Given the description of an element on the screen output the (x, y) to click on. 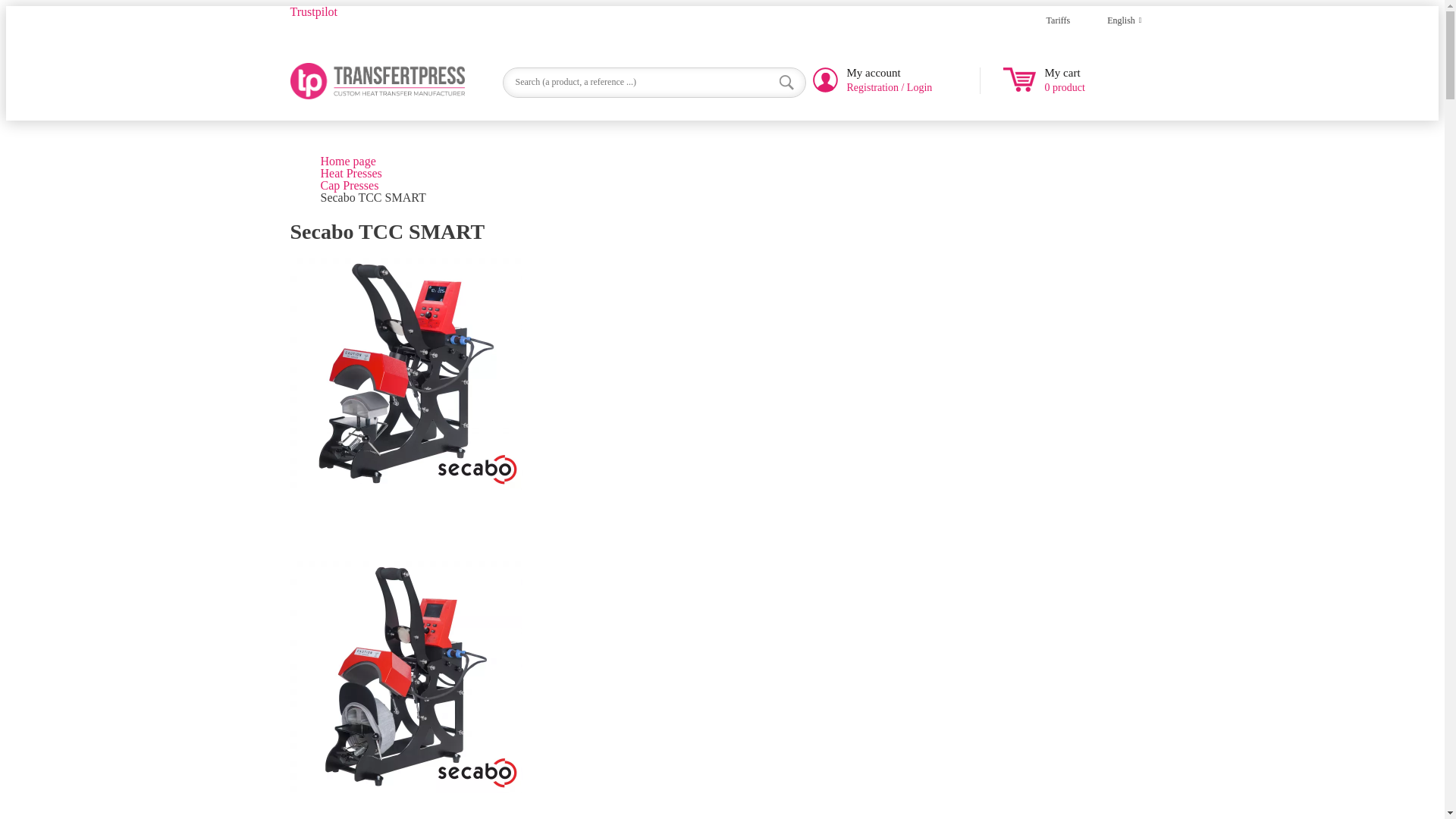
English (1110, 20)
Tariffs (1058, 20)
Trustpilot (313, 11)
TransfertPress.com (376, 81)
